Given the description of an element on the screen output the (x, y) to click on. 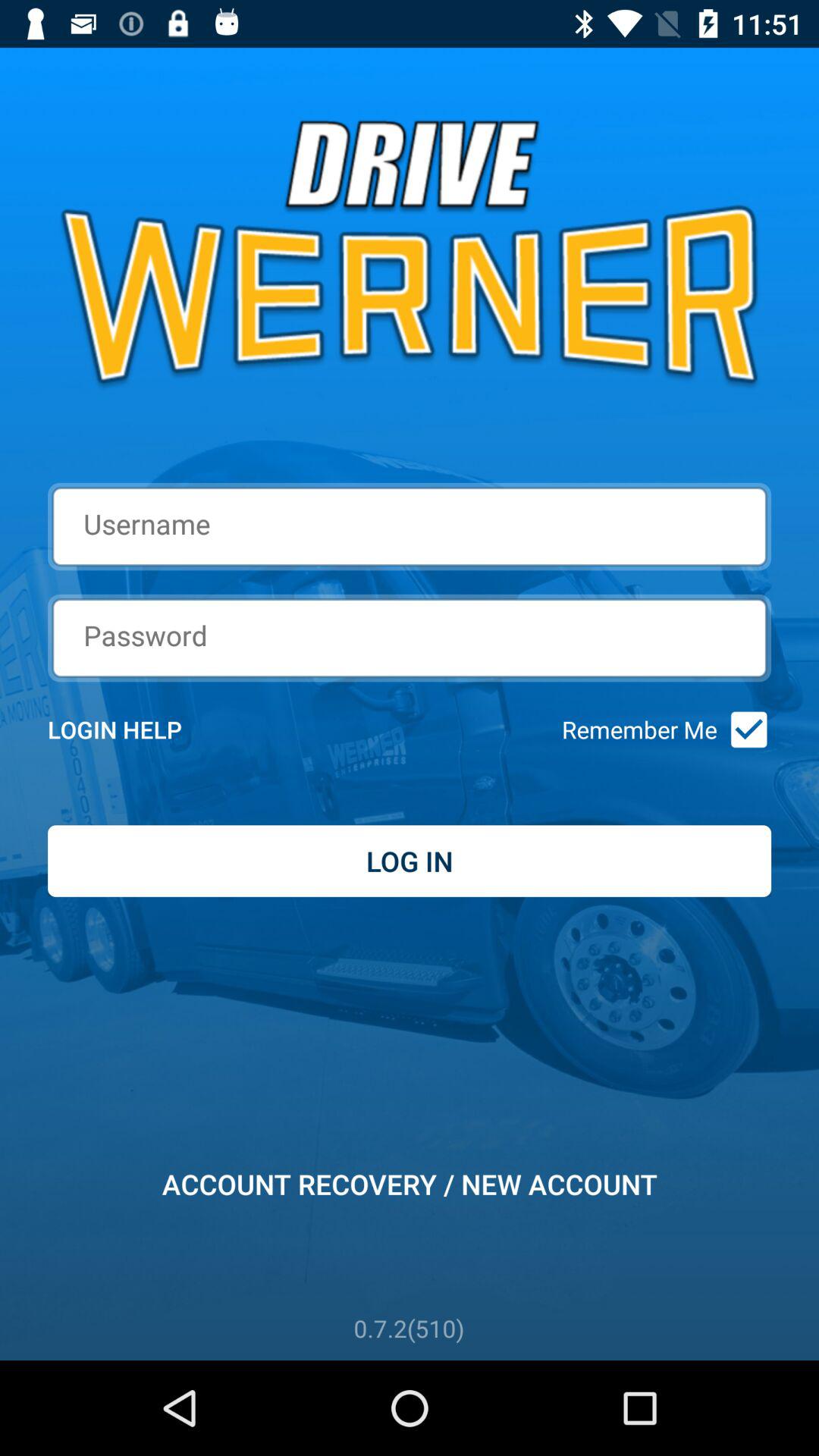
turn on the icon above log in icon (744, 729)
